Given the description of an element on the screen output the (x, y) to click on. 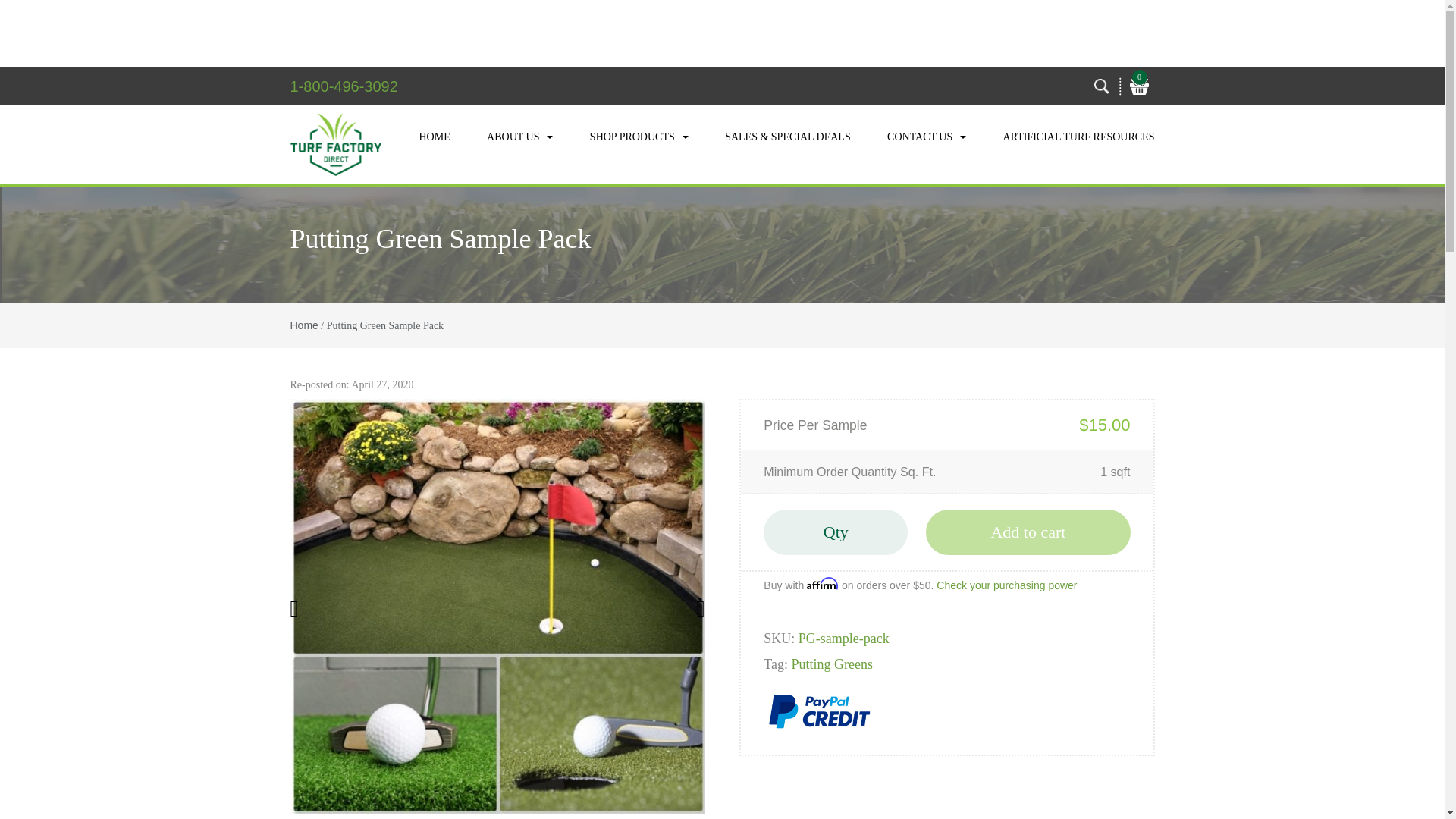
About Us (519, 136)
ABOUT US (519, 136)
HOME (438, 136)
Home (303, 325)
SHOP PRODUCTS (638, 136)
Home (438, 136)
View your shopping cart (1139, 86)
Shop Products (638, 136)
ARTIFICIAL TURF RESOURCES (1074, 136)
CONTACT US (926, 136)
1-800-496-3092 (343, 86)
0 (1139, 86)
